Given the description of an element on the screen output the (x, y) to click on. 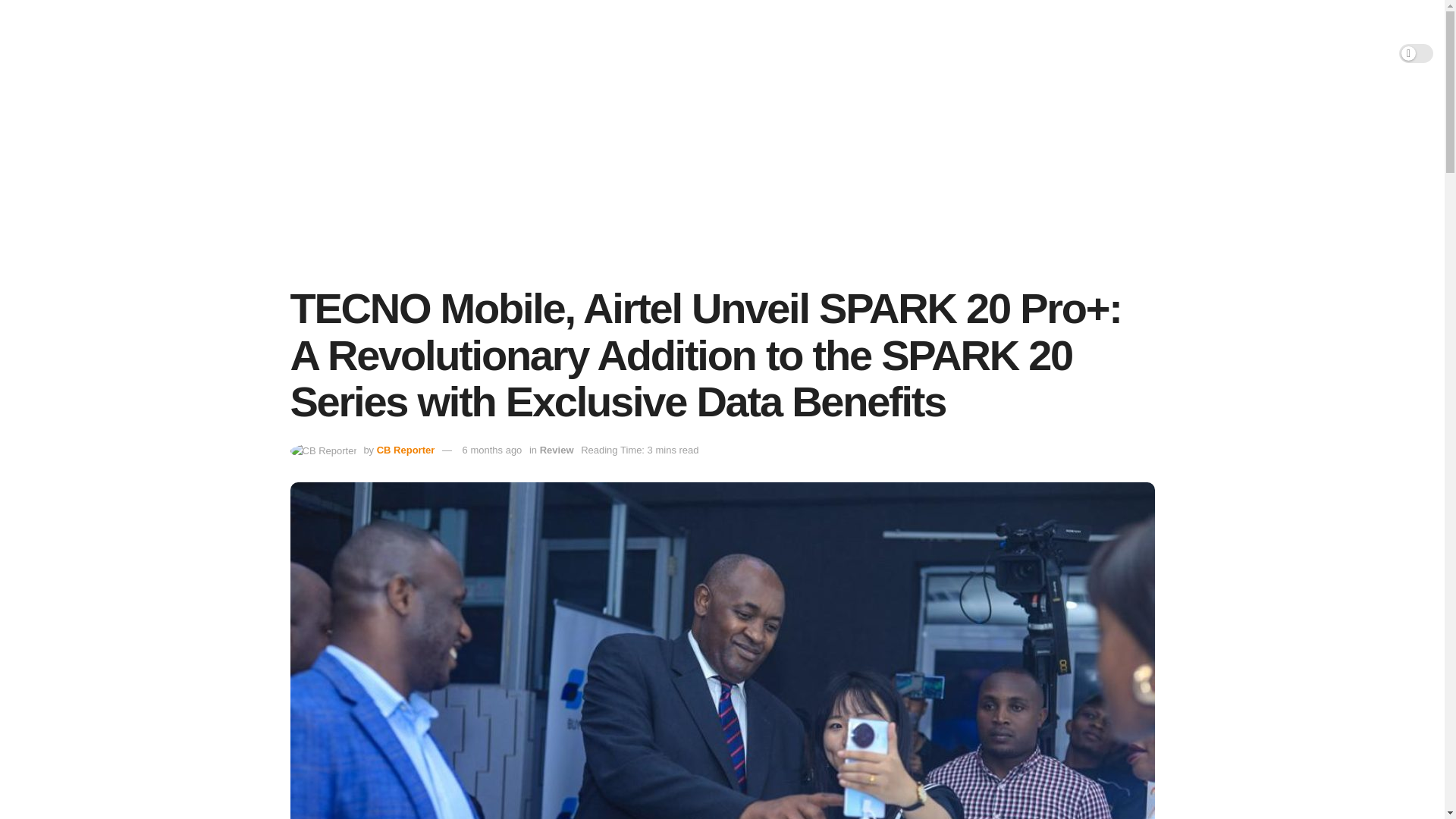
FEATURED (716, 53)
FASHION (1004, 53)
Advertisement (721, 186)
CAREERS (1084, 53)
NEWS (641, 53)
LIFESTYLE (922, 53)
ENTERTAINMENT (820, 53)
VIDEOS (1157, 53)
